Given the description of an element on the screen output the (x, y) to click on. 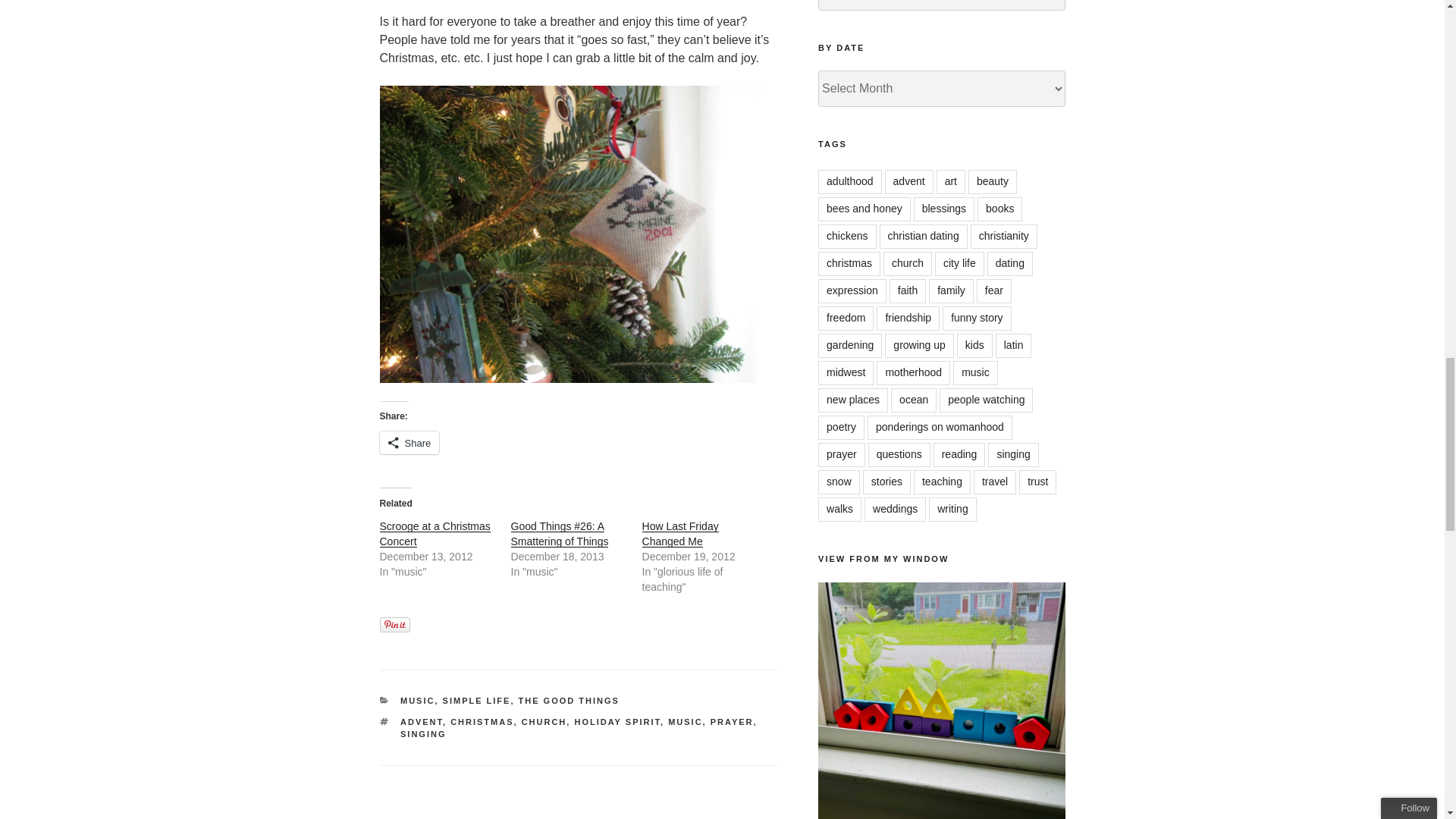
How Last Friday Changed Me (680, 533)
Pin It (393, 624)
HOLIDAY SPIRIT (617, 721)
SIMPLE LIFE (476, 700)
SINGING (422, 733)
PRAYER (732, 721)
How Last Friday Changed Me (680, 533)
Scrooge at a Christmas Concert (433, 533)
ADVENT (421, 721)
Scrooge at a Christmas Concert (433, 533)
MUSIC (416, 700)
THE GOOD THINGS (569, 700)
CHURCH (544, 721)
CHRISTMAS (481, 721)
MUSIC (684, 721)
